Given the description of an element on the screen output the (x, y) to click on. 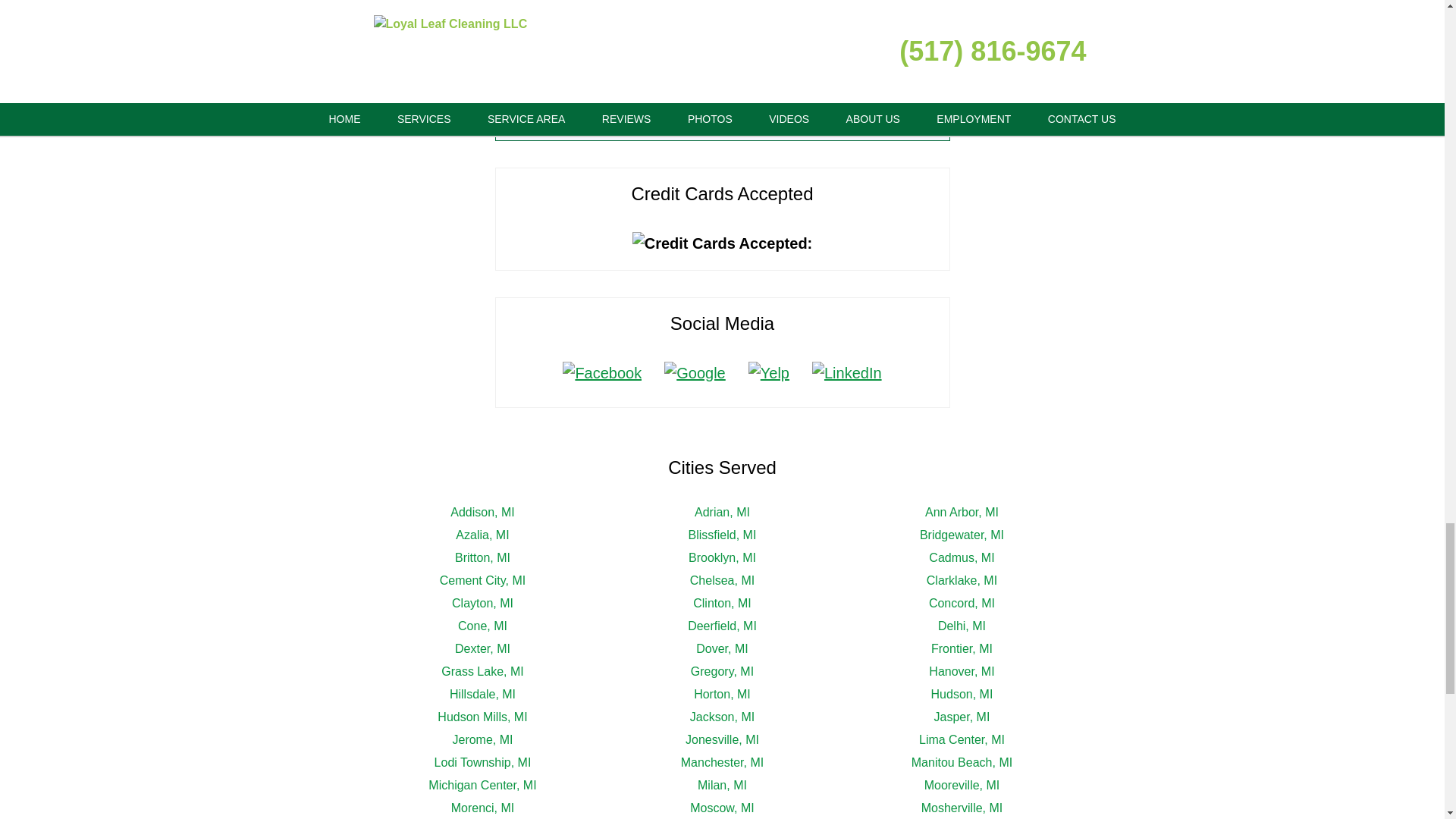
Submit (722, 109)
Cement City, MI (482, 580)
Blissfield, MI (722, 534)
Facebook (601, 372)
Clarklake, MI (961, 580)
Google (694, 372)
Azalia, MI (481, 534)
Yelp (768, 372)
Adrian, MI (721, 512)
Clayton, MI (482, 603)
